Given the description of an element on the screen output the (x, y) to click on. 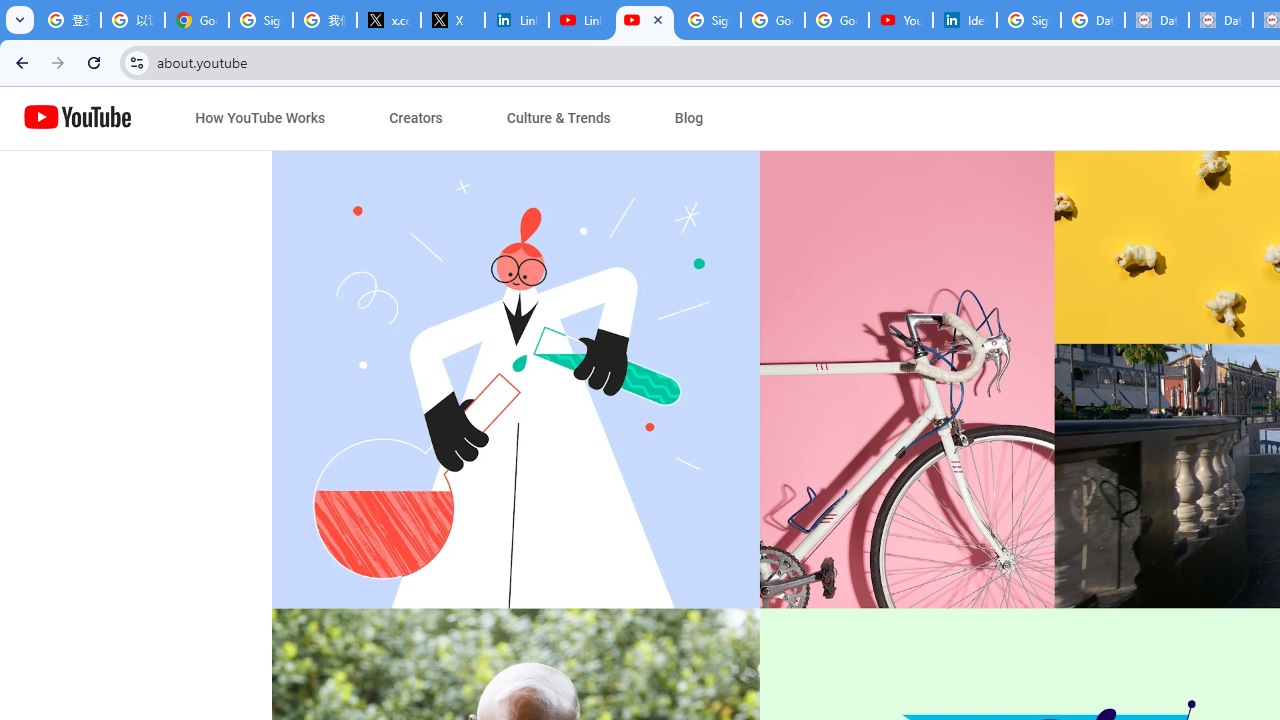
Home page link (77, 118)
Culture & Trends (557, 118)
About YouTube - YouTube (645, 20)
LinkedIn Privacy Policy (517, 20)
How YouTube Works (260, 118)
Data Privacy Framework (1221, 20)
X (453, 20)
